Given the description of an element on the screen output the (x, y) to click on. 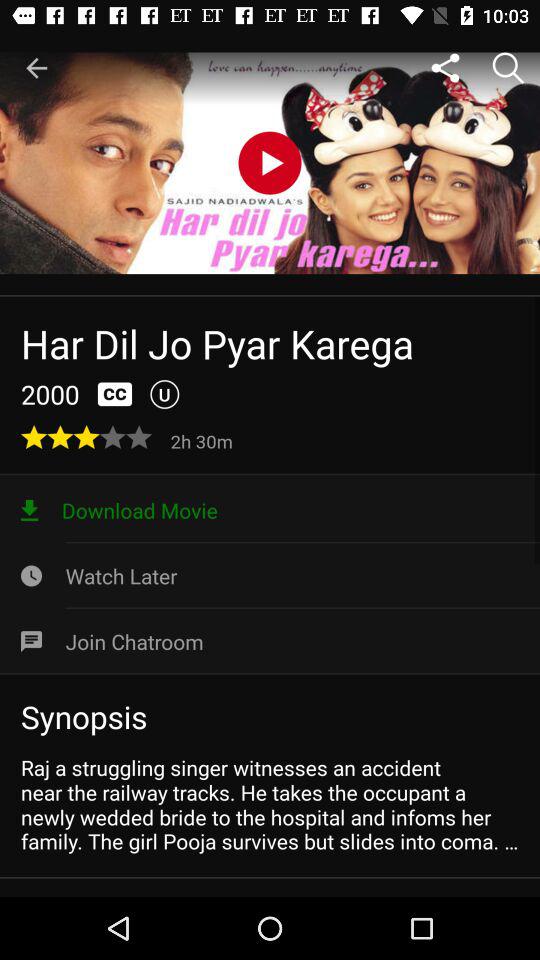
tap item below synopsis (270, 804)
